Given the description of an element on the screen output the (x, y) to click on. 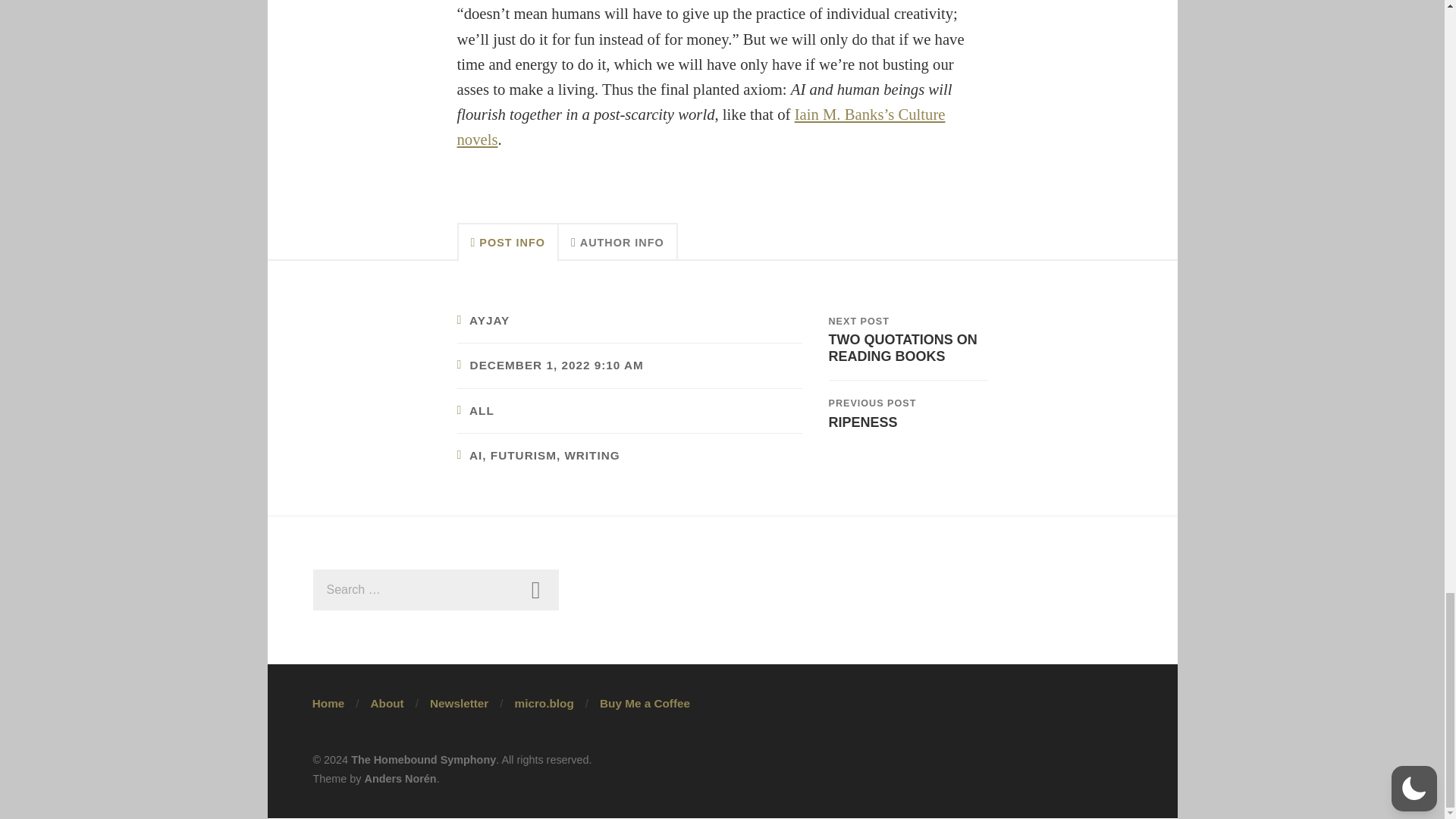
DECEMBER 1, 2022 9:10 AM (556, 364)
Home (329, 703)
POST INFO (507, 241)
micro.blog (544, 703)
AYJAY (488, 319)
WRITING (592, 454)
ALL (481, 410)
Newsletter (458, 703)
About (386, 703)
Buy Me a Coffee (644, 703)
